Given the description of an element on the screen output the (x, y) to click on. 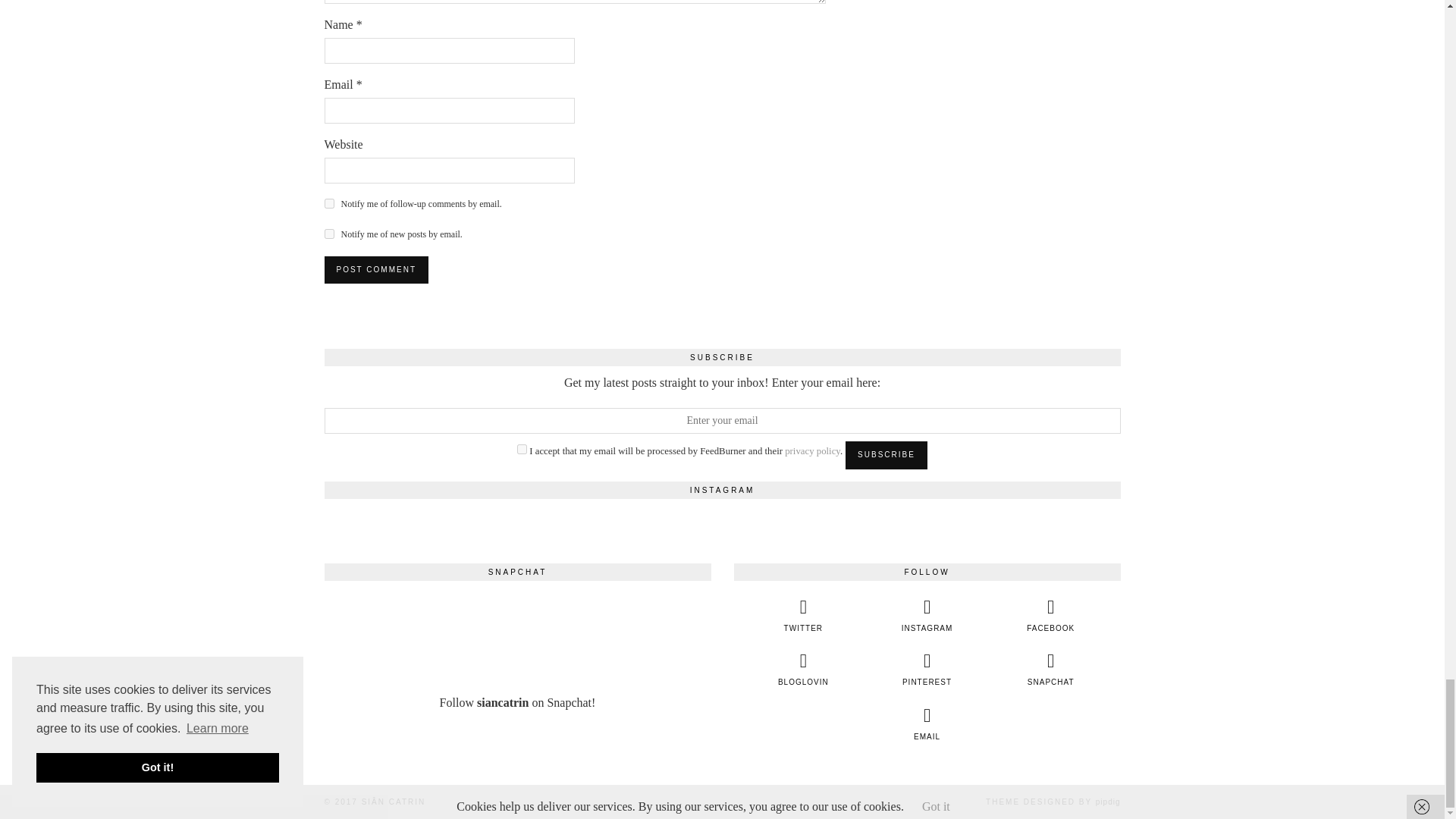
Subscribe (886, 454)
1 (521, 449)
subscribe (329, 234)
subscribe (329, 203)
Post Comment (376, 269)
